Given the description of an element on the screen output the (x, y) to click on. 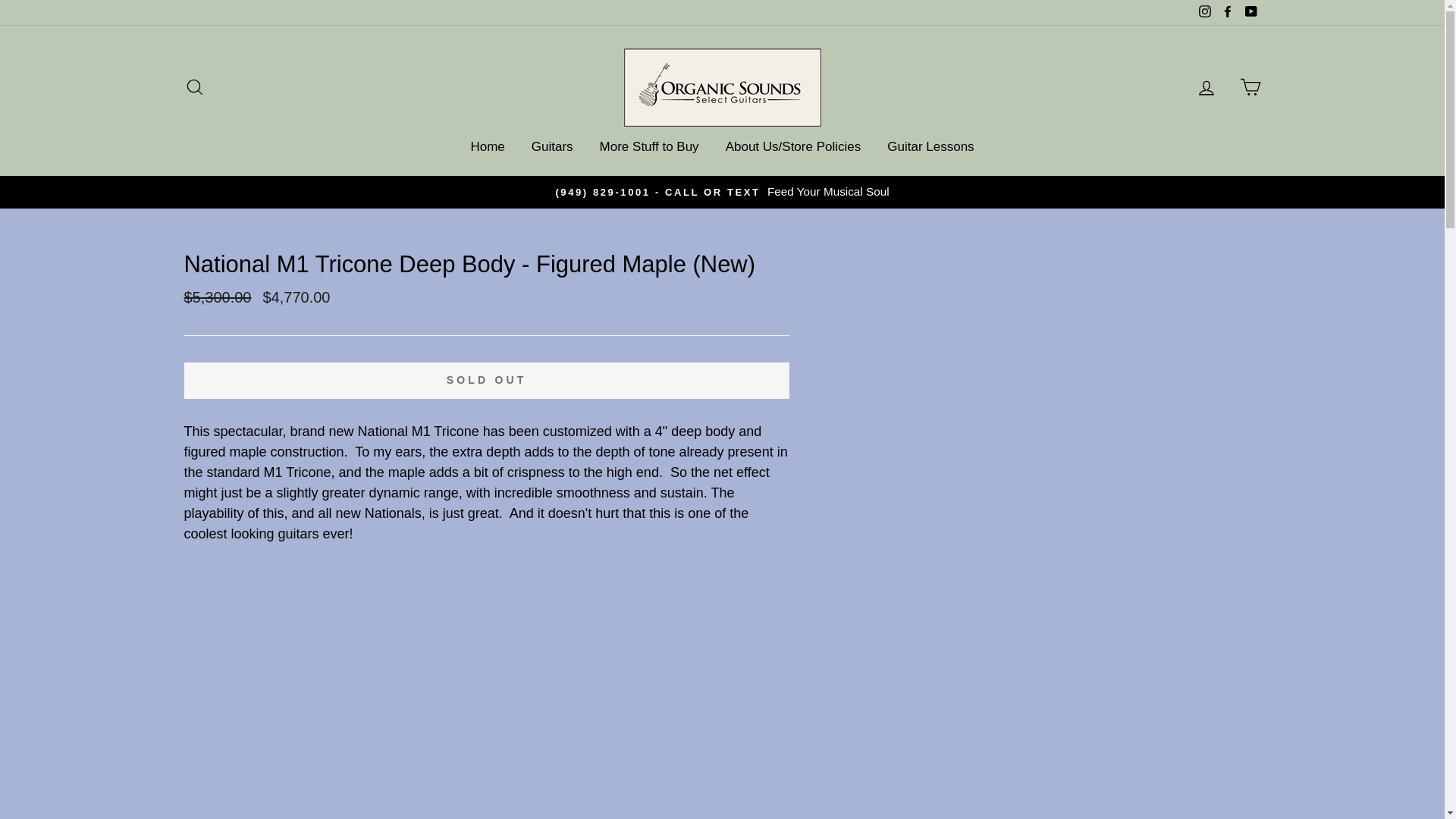
Search (194, 87)
Cart (1249, 87)
YouTube video player (486, 710)
Home (486, 147)
Log in (1205, 87)
Guitars (552, 147)
